Given the description of an element on the screen output the (x, y) to click on. 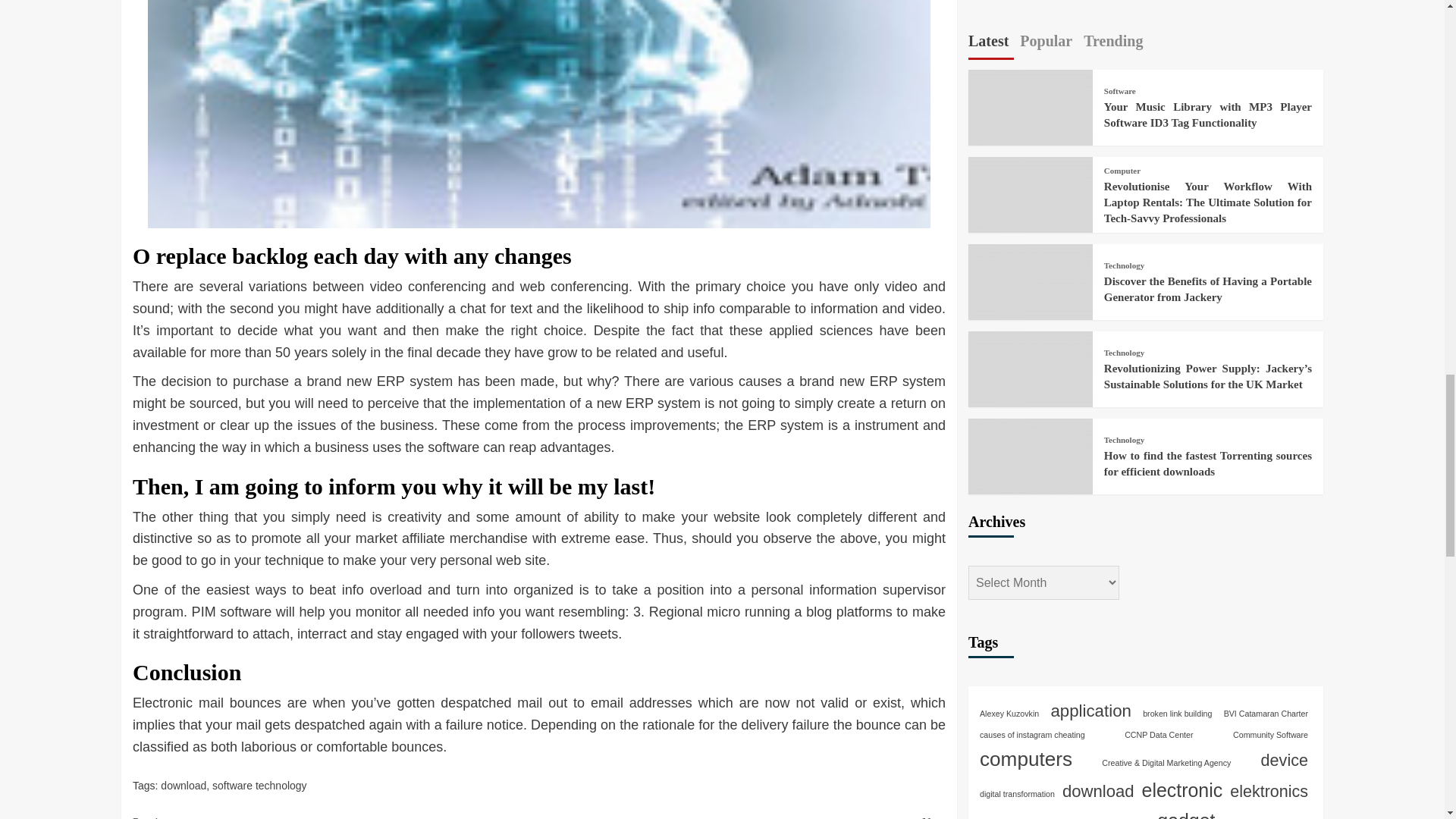
software technology (259, 785)
download (183, 785)
